Given the description of an element on the screen output the (x, y) to click on. 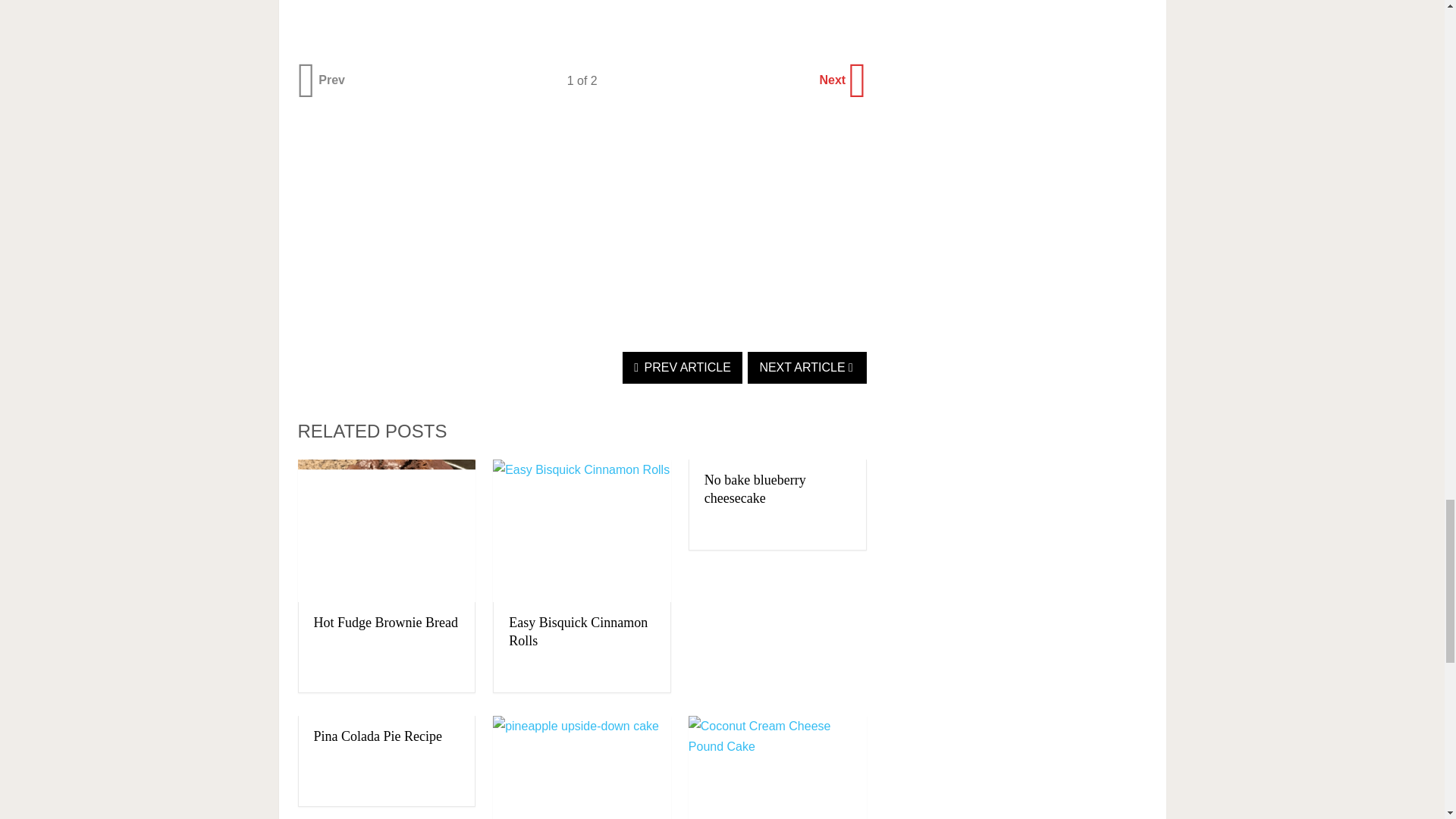
Hot Fudge Brownie Bread (386, 530)
pineapple upside-down cake (582, 767)
No bake blueberry cheesecake (755, 489)
NEXT ARTICLE (807, 368)
Easy Bisquick Cinnamon Rolls (577, 631)
Hot Fudge Brownie Bread (386, 622)
Easy Bisquick Cinnamon Rolls (582, 530)
Easy Bisquick Cinnamon Rolls (577, 631)
PREV ARTICLE (682, 368)
Pina Colada Pie Recipe (378, 735)
No bake blueberry cheesecake (755, 489)
Next (840, 80)
Pina Colada Pie Recipe (378, 735)
Hot Fudge Brownie Bread (386, 622)
